Given the description of an element on the screen output the (x, y) to click on. 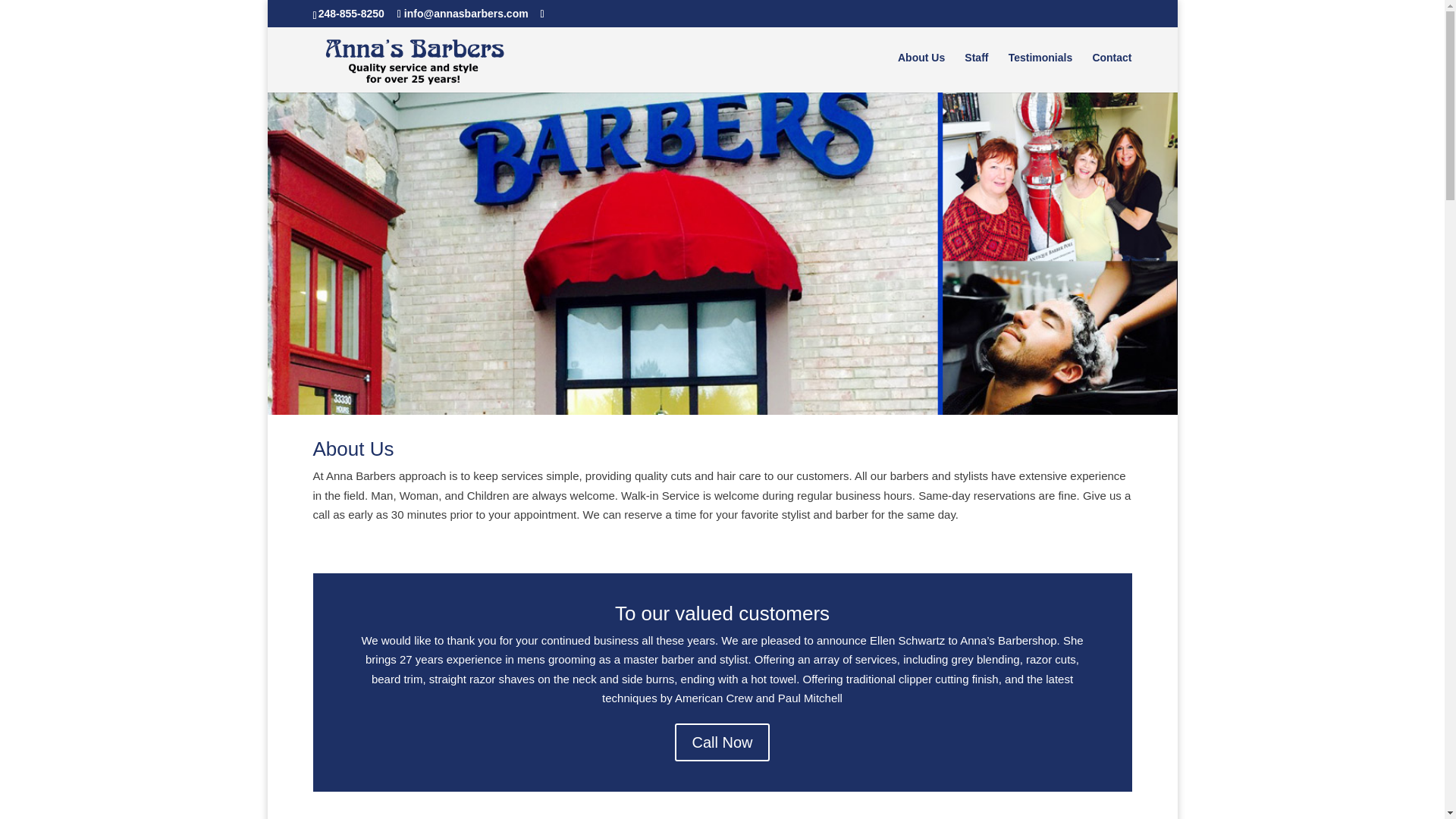
Call Now (721, 742)
About Us (921, 72)
Contact (1111, 72)
Testimonials (1041, 72)
